Given the description of an element on the screen output the (x, y) to click on. 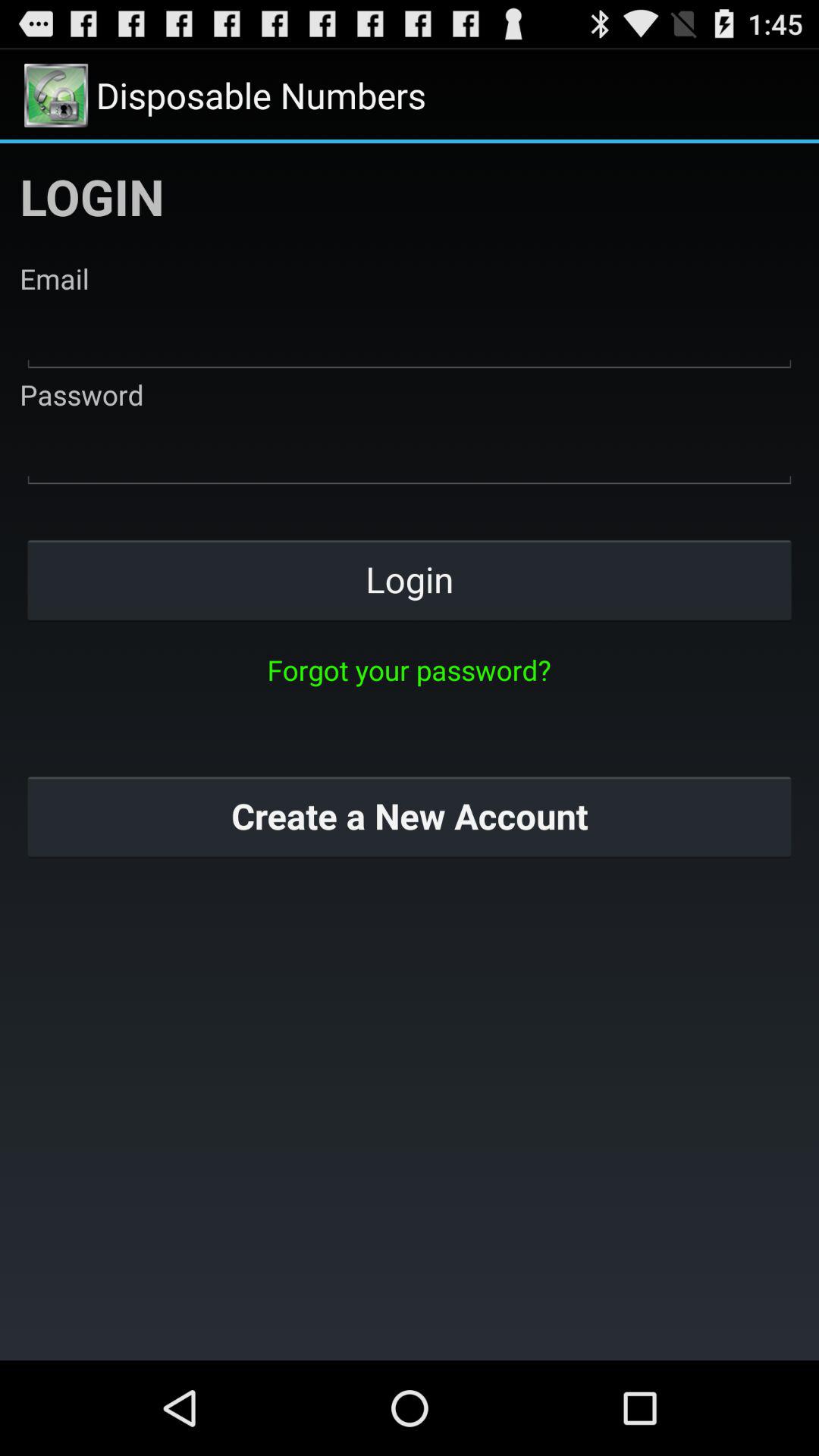
enter your password (409, 452)
